Given the description of an element on the screen output the (x, y) to click on. 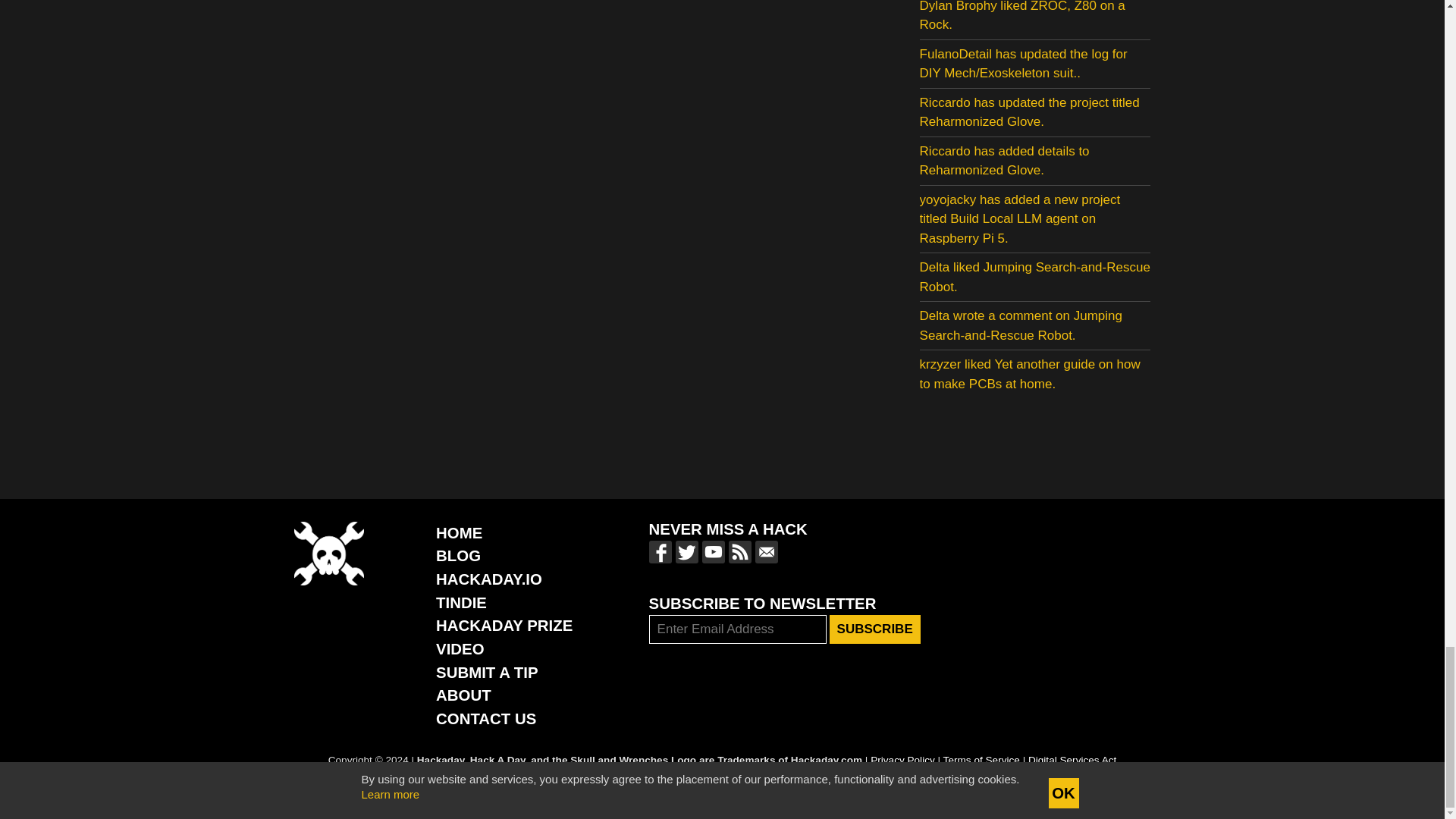
Subscribe (874, 629)
Build Something that Matters (503, 625)
